Given the description of an element on the screen output the (x, y) to click on. 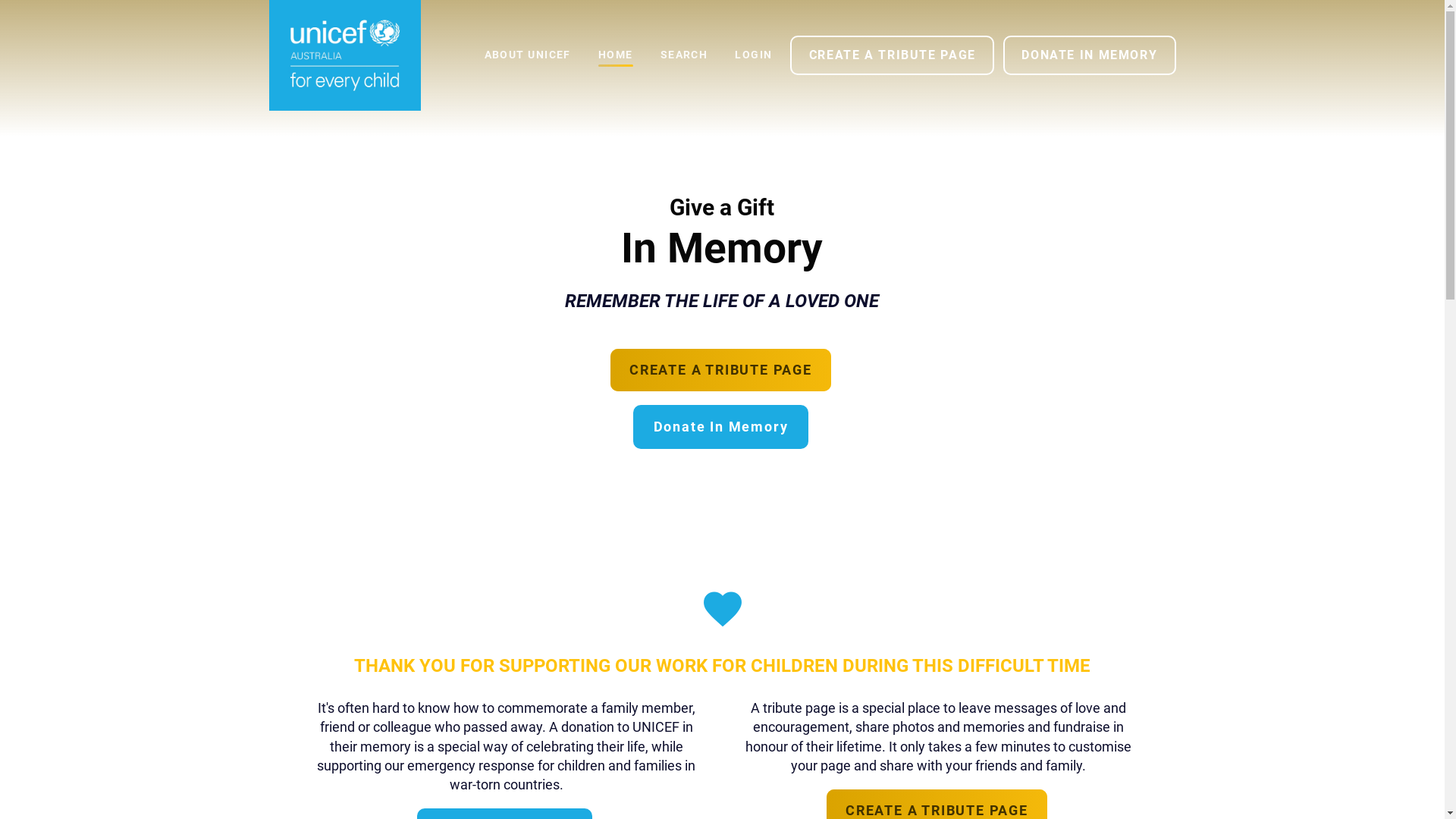
Donate In Memory Element type: text (720, 426)
DONATE IN MEMORY Element type: text (1089, 55)
CREATE A TRIBUTE PAGE Element type: text (892, 55)
HOME Element type: text (615, 54)
LOGIN Element type: text (753, 54)
CREATE A TRIBUTE PAGE Element type: text (720, 370)
SEARCH Element type: text (684, 54)
ABOUT UNICEF Element type: text (527, 54)
